Given the description of an element on the screen output the (x, y) to click on. 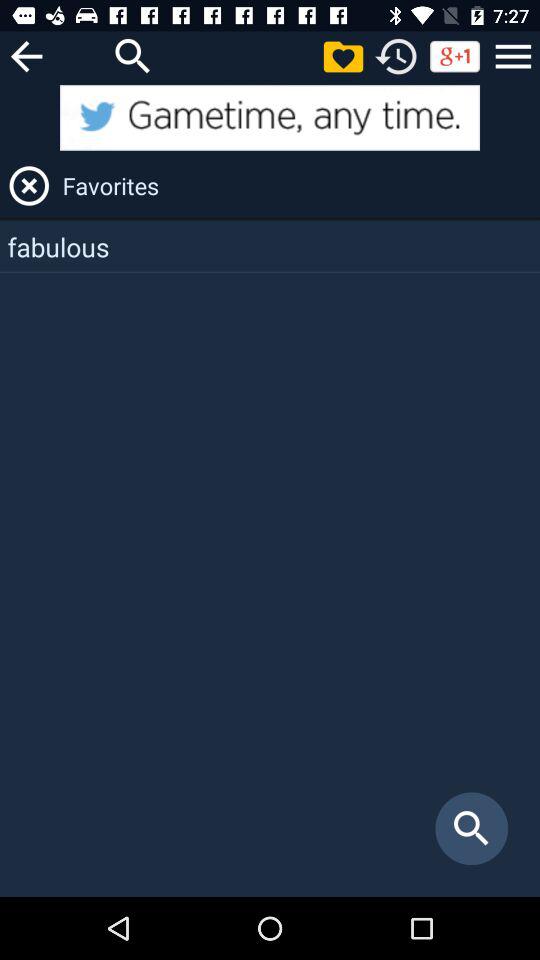
menu (513, 56)
